Given the description of an element on the screen output the (x, y) to click on. 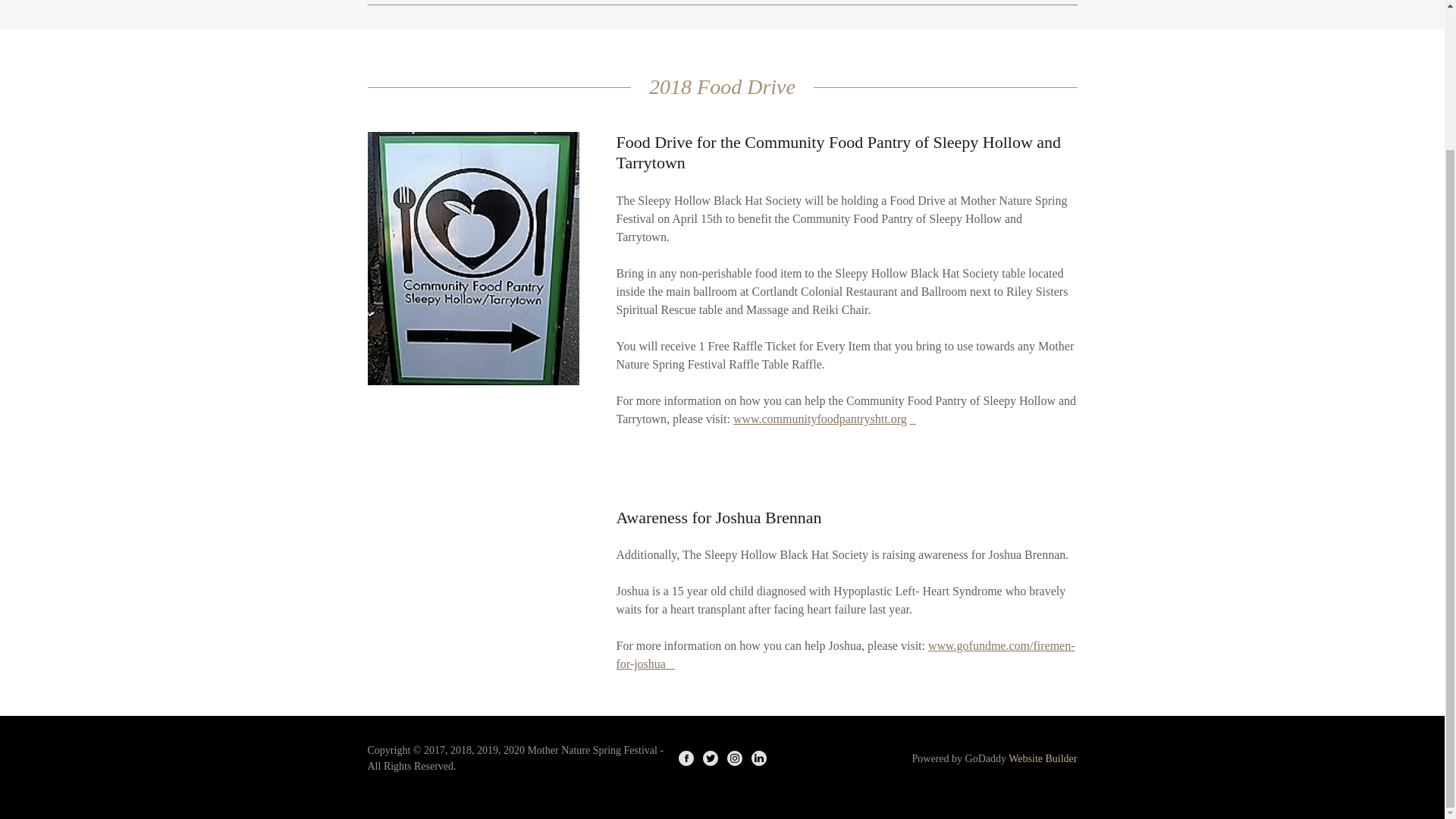
www.communityfoodpantryshtt.org (820, 418)
